Given the description of an element on the screen output the (x, y) to click on. 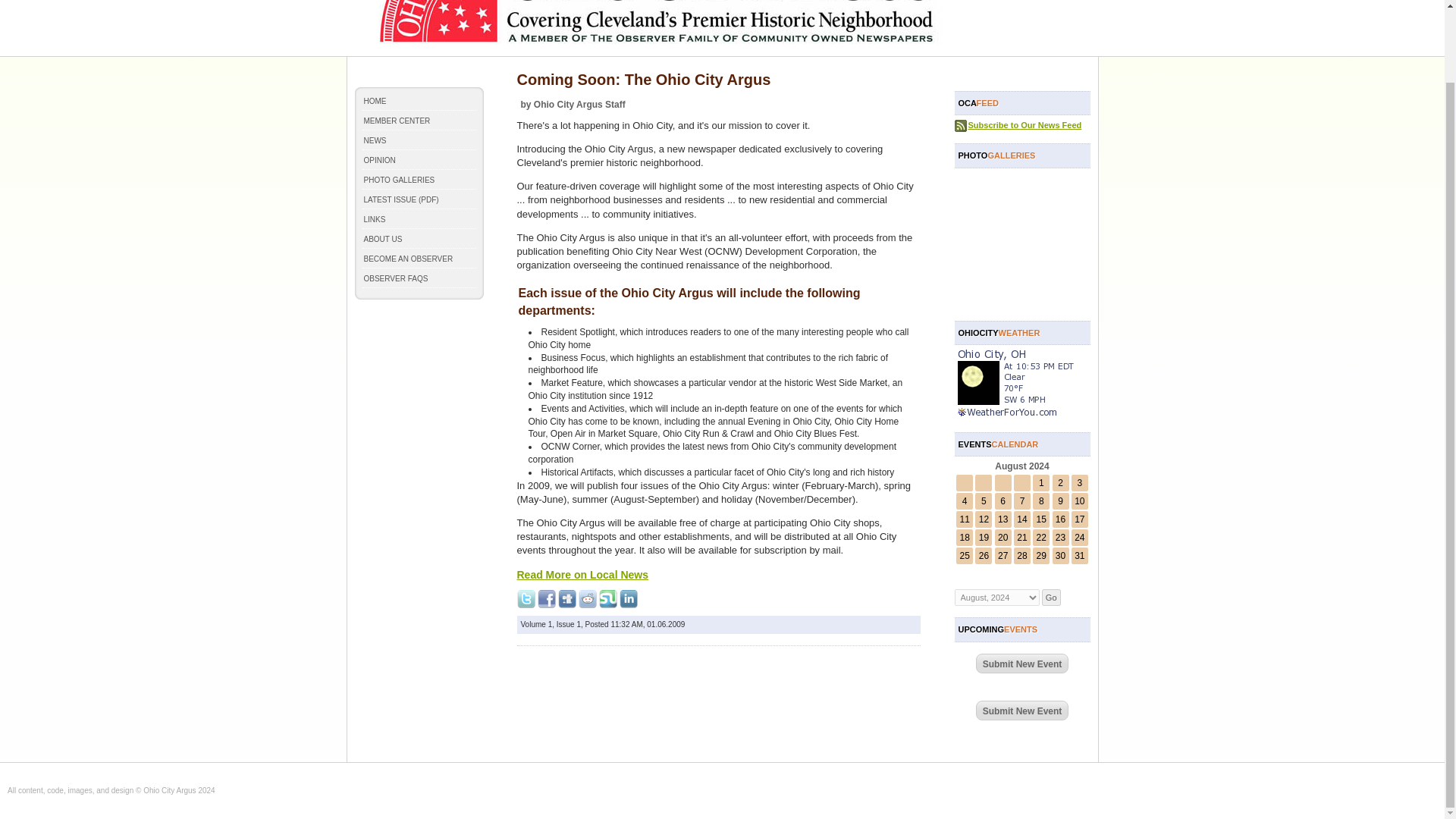
12 (983, 519)
Share on Reddit (586, 598)
17 (1079, 519)
Subscribe to Our News Feed (1024, 124)
24 (1079, 537)
Share on LinkedIn (627, 598)
25 (964, 555)
Share on Facebook (545, 598)
28 (1021, 555)
29 (1041, 555)
